Given the description of an element on the screen output the (x, y) to click on. 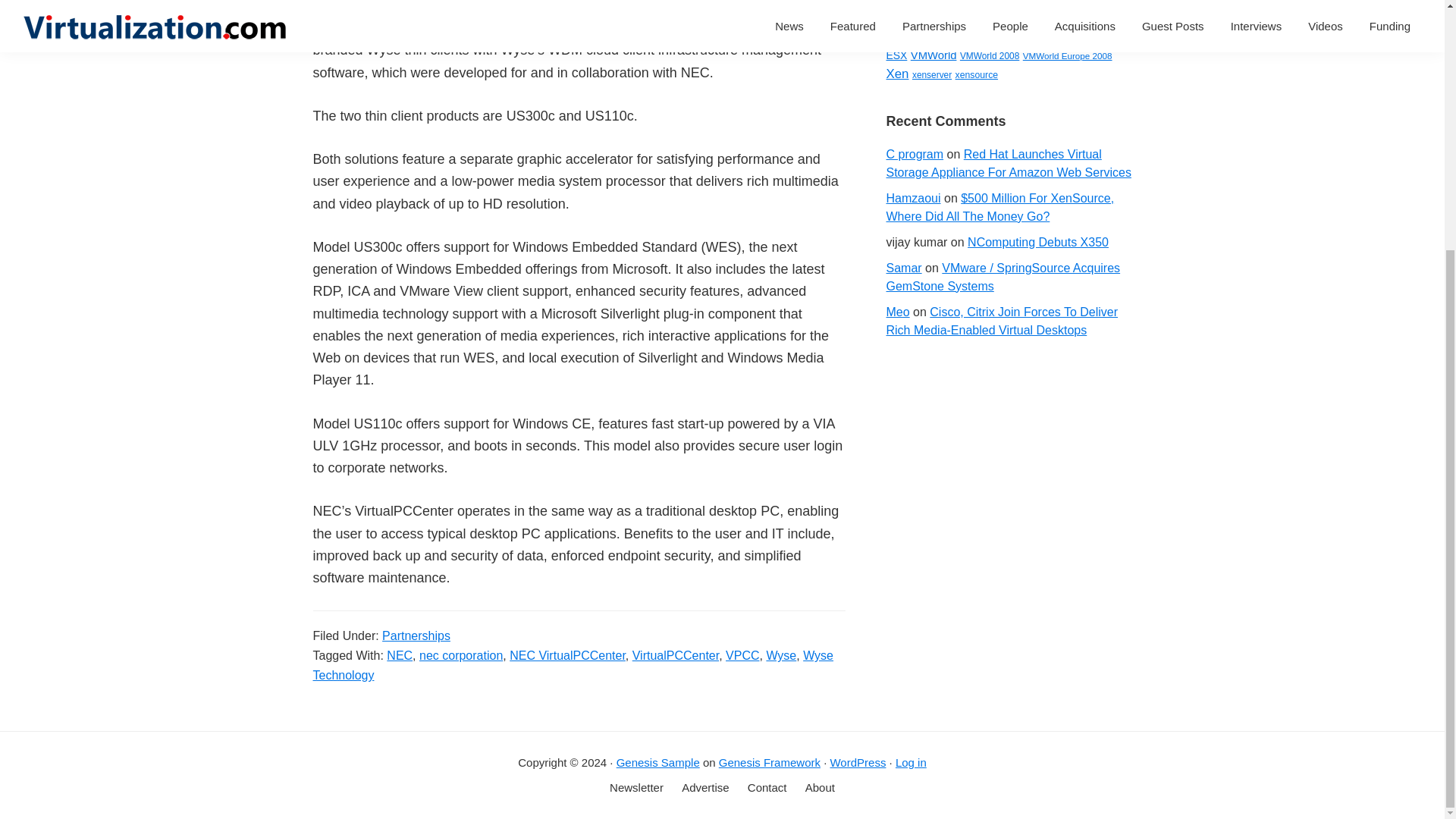
VirtualPCCenter (675, 655)
VPCC (741, 655)
NEC VirtualPCCenter (567, 655)
Partnerships (415, 635)
nec corporation (460, 655)
Wyse Technology (572, 665)
NEC (399, 655)
Wyse (780, 655)
